Given the description of an element on the screen output the (x, y) to click on. 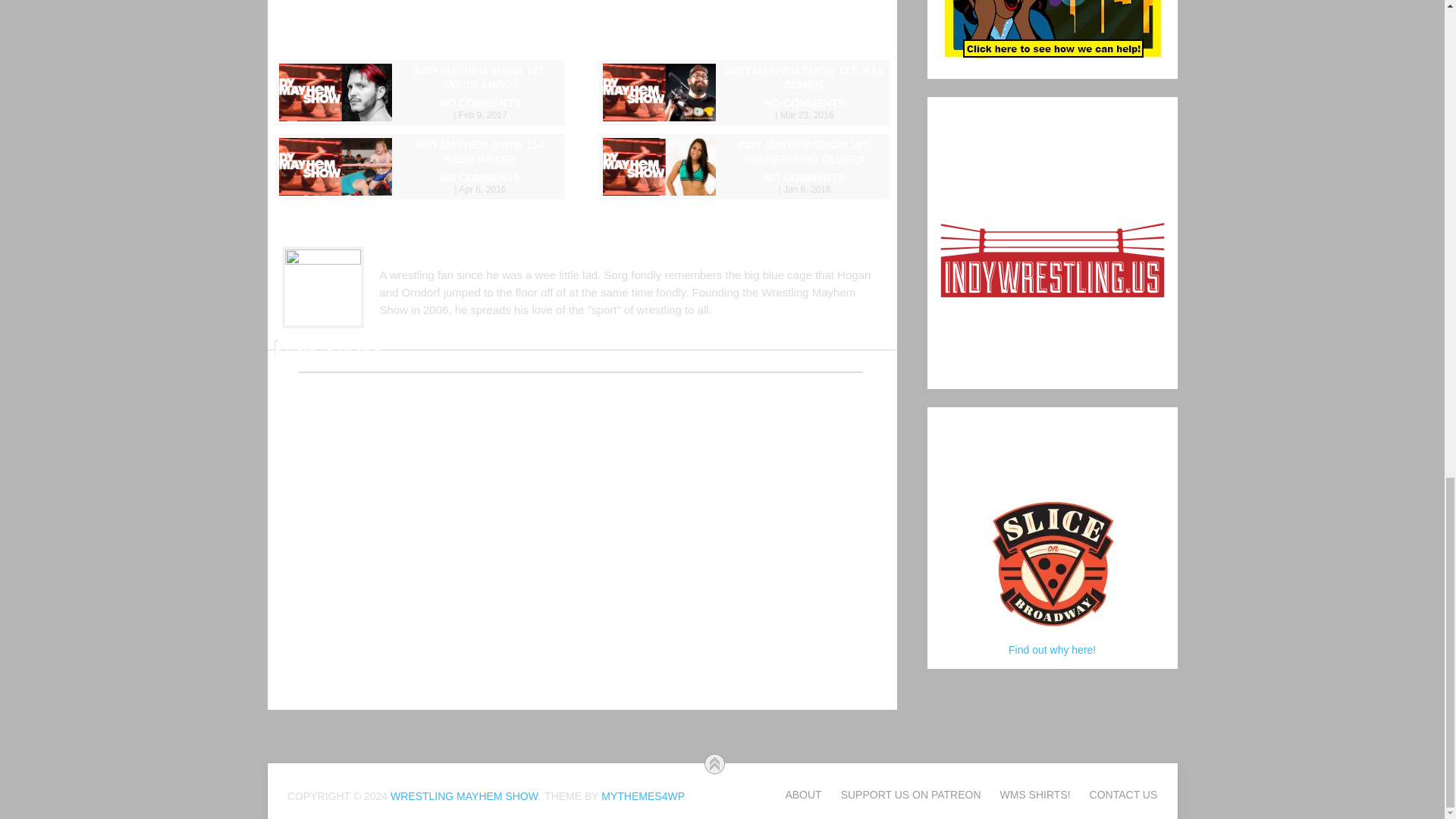
NO COMMENTS (743, 108)
Indy Mayhem Show 114: Kody Krash (420, 152)
NO COMMENTS (420, 182)
INDY MAYHEM SHOW 112: RAY ZOMBIE (743, 77)
Indy Mayhem Show 101: Hyaneyoung Olvera (743, 152)
NO COMMENTS (420, 108)
Indy Mayhem Show 112: Ray Zombie (743, 77)
INDY MAYHEM SHOW 101: HYANEYOUNG OLVERA (743, 152)
INDY MAYHEM SHOW 147: JAXON ARGOS (420, 77)
